Given the description of an element on the screen output the (x, y) to click on. 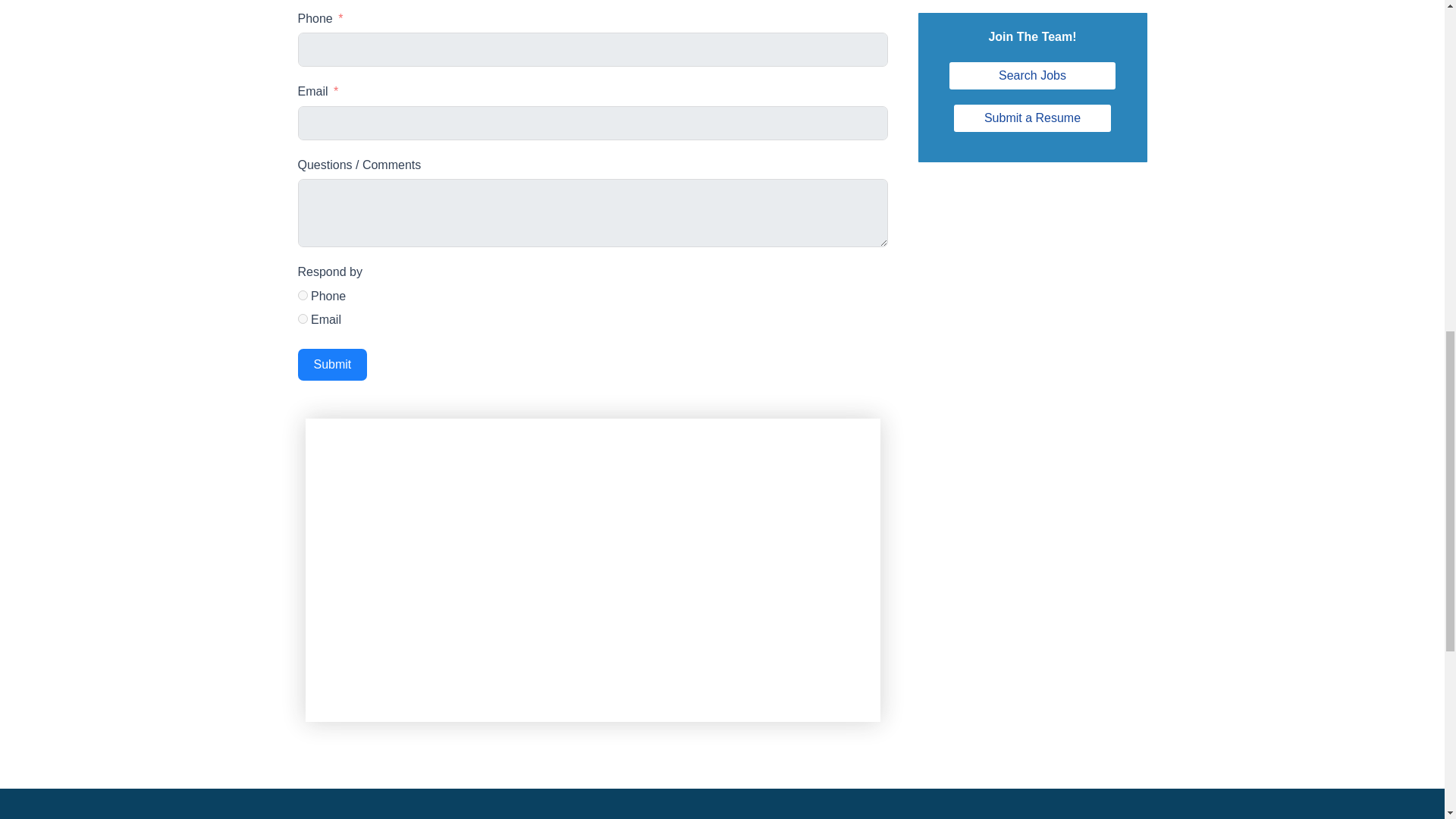
Phone (302, 295)
Submit (331, 364)
Email (302, 318)
